Given the description of an element on the screen output the (x, y) to click on. 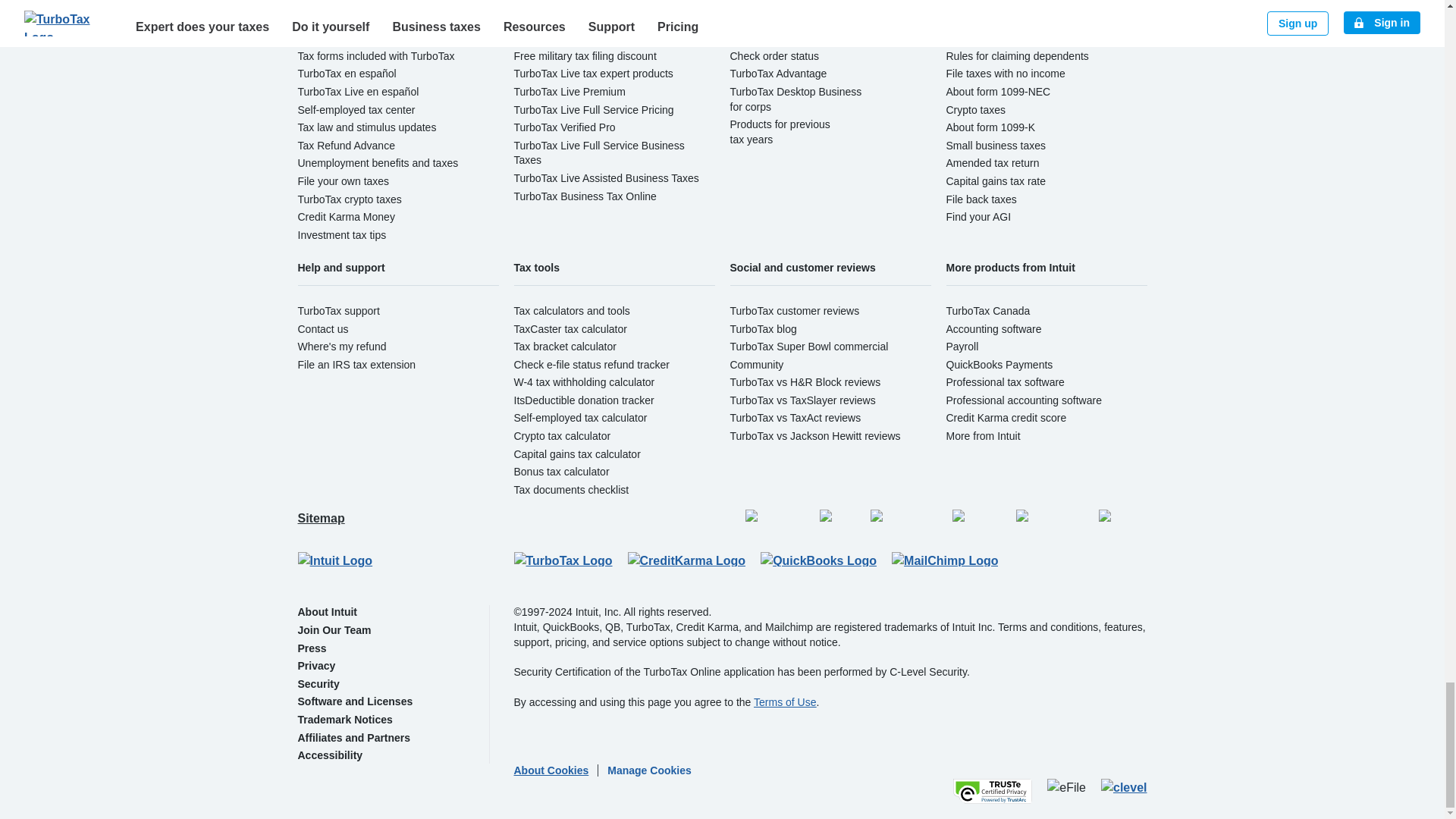
TurboTax Verified Pro (564, 127)
Free Edition tax filing (562, 4)
TurboTax Business for corps (795, 99)
Install TurboTax Desktop (787, 37)
All online tax preparation software (377, 4)
TurboTax Live tax expert products (592, 73)
Deluxe to maximize tax deductions (595, 20)
Check order status (773, 55)
TurboTax Advantage program (778, 73)
Free Military tax filing discount (584, 55)
